Given the description of an element on the screen output the (x, y) to click on. 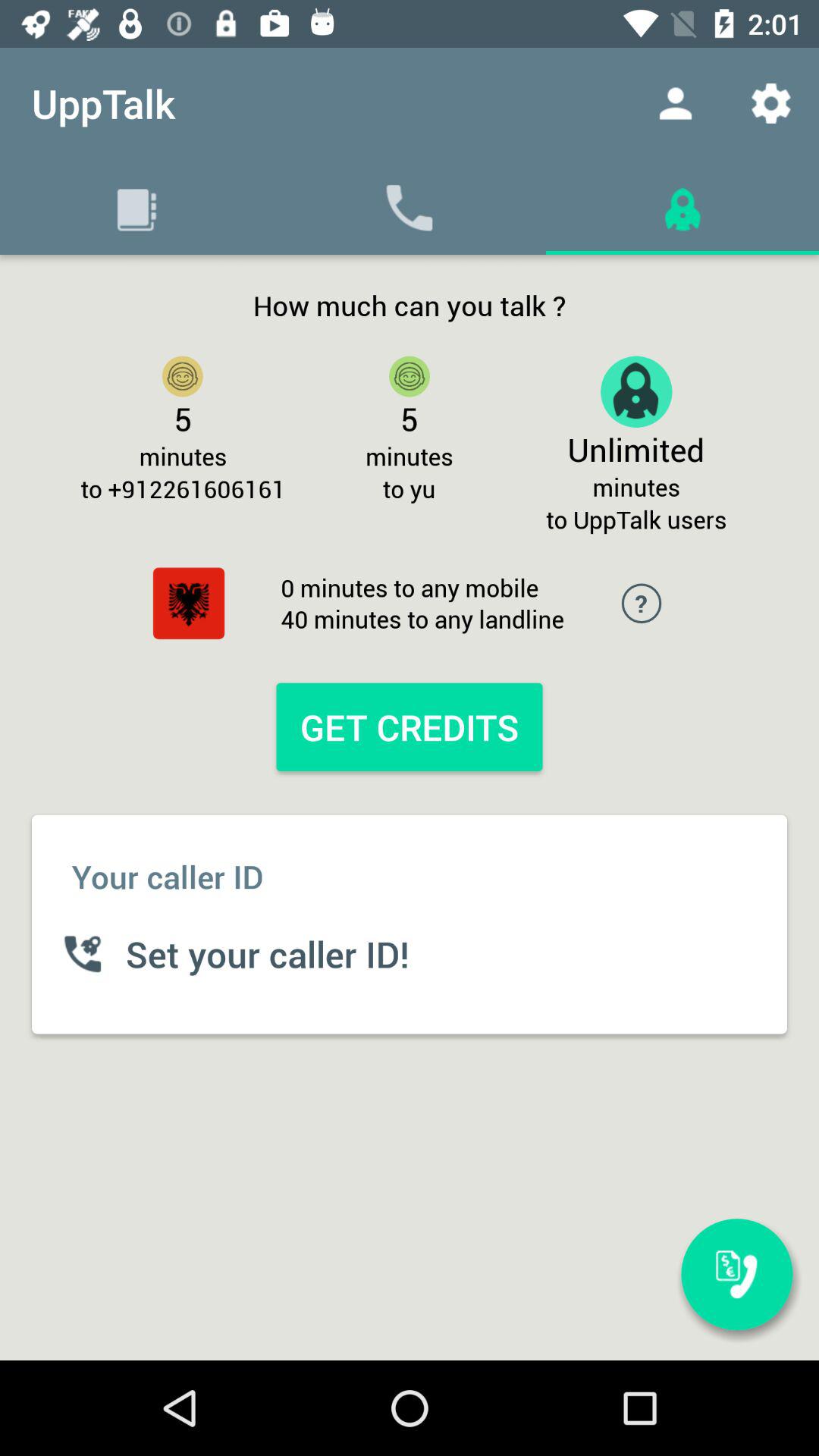
launch item next to upptalk item (675, 103)
